Given the description of an element on the screen output the (x, y) to click on. 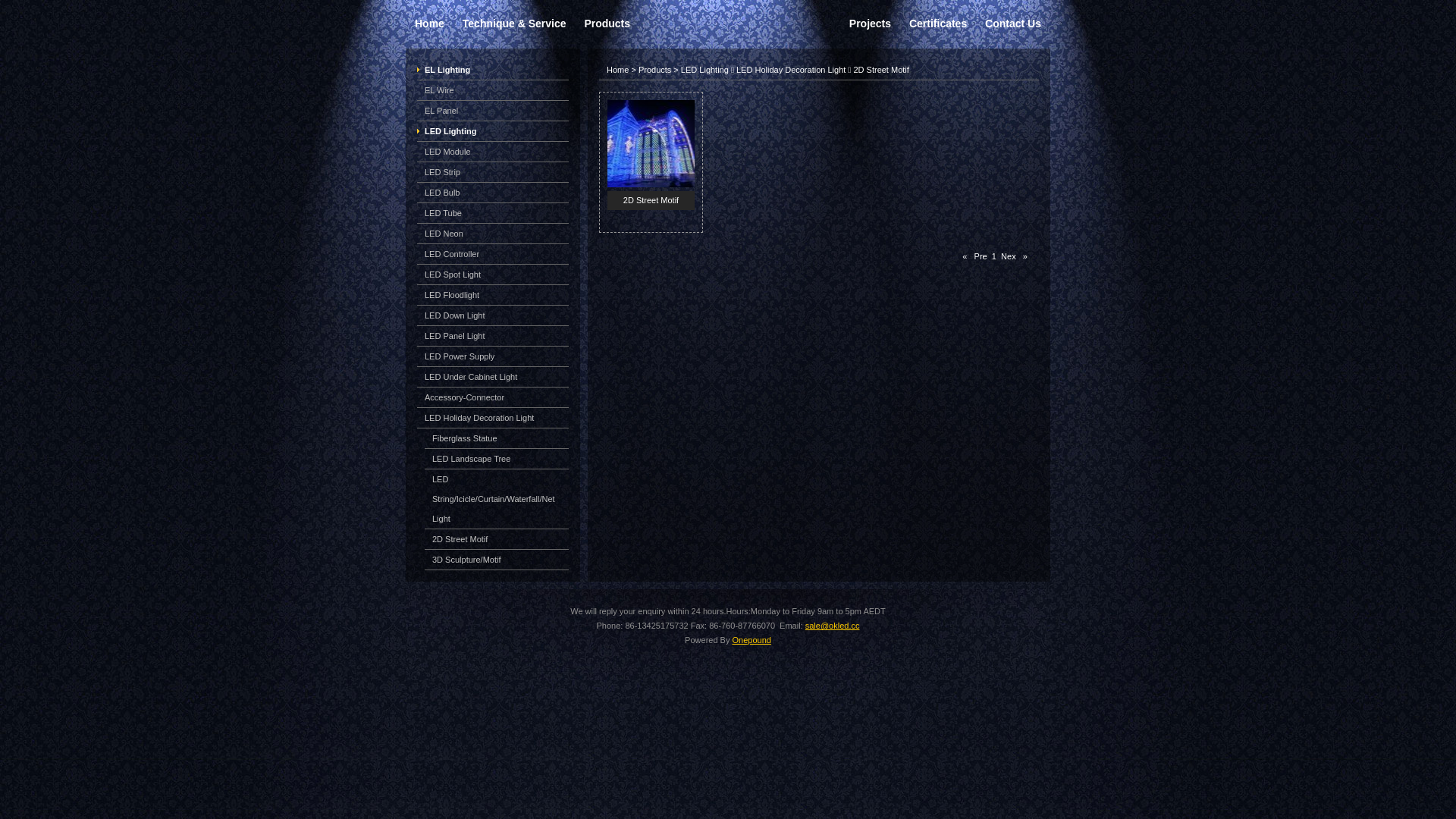
Technique & Service Element type: text (514, 23)
EL Wire Element type: text (439, 89)
1 Element type: text (993, 255)
LED Lighting Element type: text (450, 130)
LED Power Supply Element type: text (459, 355)
LED Holiday Decoration Light Element type: text (790, 69)
Projects Element type: text (869, 23)
Products Element type: text (654, 69)
2D Street Motif Element type: hover (650, 183)
LED Bulb Element type: text (441, 192)
2D Street Motif Element type: text (880, 69)
Products Element type: text (606, 23)
LED Lighting Element type: text (704, 69)
LED Tube Element type: text (442, 212)
LED Under Cabinet Light Element type: text (470, 376)
Contact Us Element type: text (1012, 23)
Accessory-Connector Element type: text (464, 396)
3D Sculpture/Motif Element type: text (466, 559)
LED String/Icicle/Curtain/Waterfall/Net Light Element type: text (493, 498)
EL Lighting Element type: text (447, 69)
LED Neon Element type: text (443, 233)
EL Panel Element type: text (441, 110)
sale@okled.cc Element type: text (832, 625)
LED Floodlight Element type: text (451, 294)
Onepound Element type: text (750, 639)
LED Controller Element type: text (451, 253)
Home Element type: text (617, 69)
LED Holiday Decoration Light Element type: text (478, 417)
Fiberglass Statue Element type: text (464, 437)
LED Panel Light Element type: text (454, 335)
2D Street Motif Element type: text (650, 199)
LED Spot Light Element type: text (452, 274)
  Nex Element type: text (1006, 255)
Home Element type: text (429, 23)
LED Down Light Element type: text (454, 315)
Certificates Element type: text (937, 23)
Pre Element type: text (980, 255)
2D Street Motif Element type: text (459, 538)
LED Strip Element type: text (442, 171)
LED Landscape Tree Element type: text (471, 458)
LED Module Element type: text (447, 151)
